Given the description of an element on the screen output the (x, y) to click on. 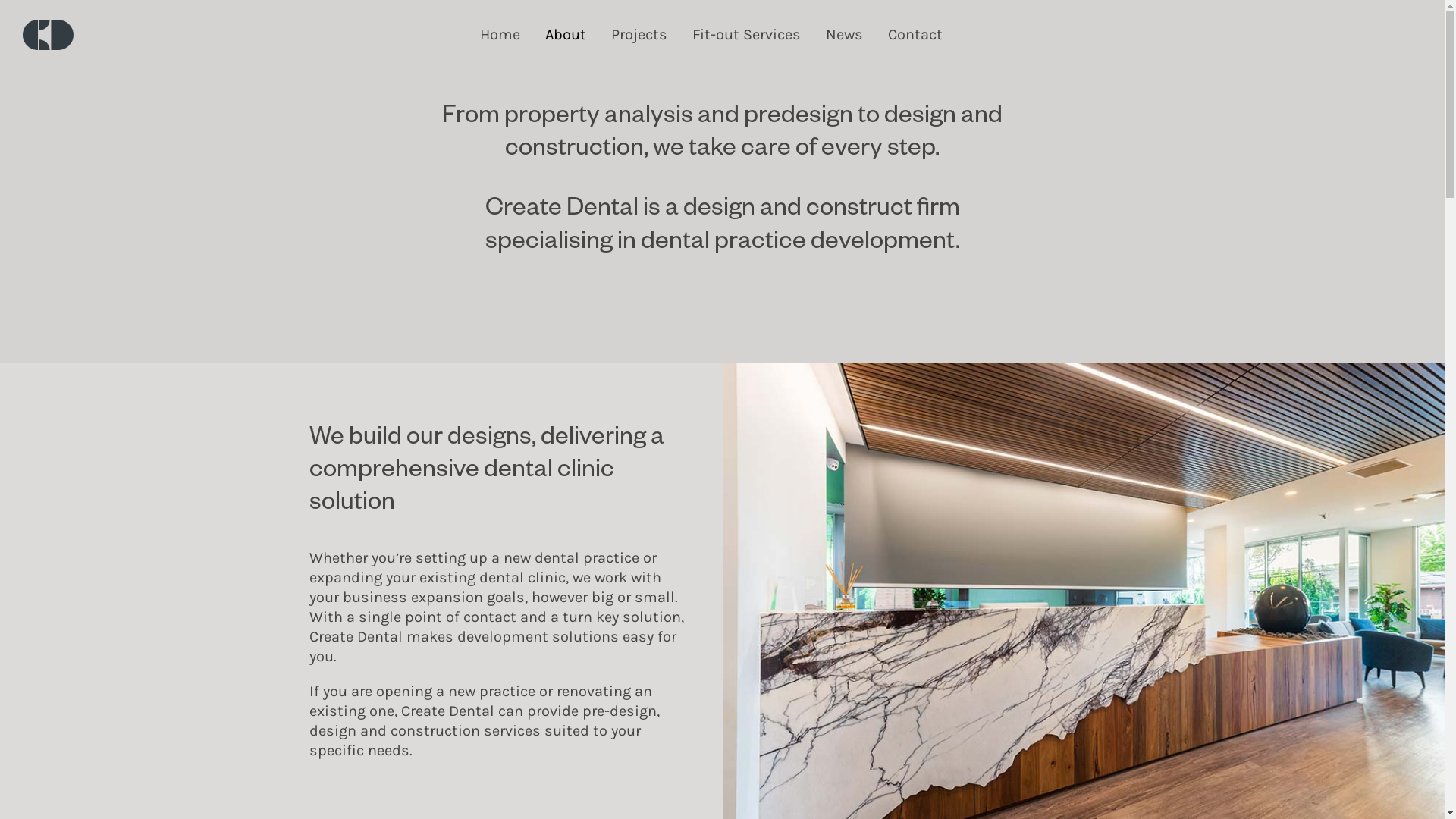
Contact Element type: text (914, 34)
Projects Element type: text (639, 34)
Home Element type: text (499, 34)
About Element type: text (564, 34)
Fit-out Services Element type: text (745, 34)
News Element type: text (843, 34)
